Given the description of an element on the screen output the (x, y) to click on. 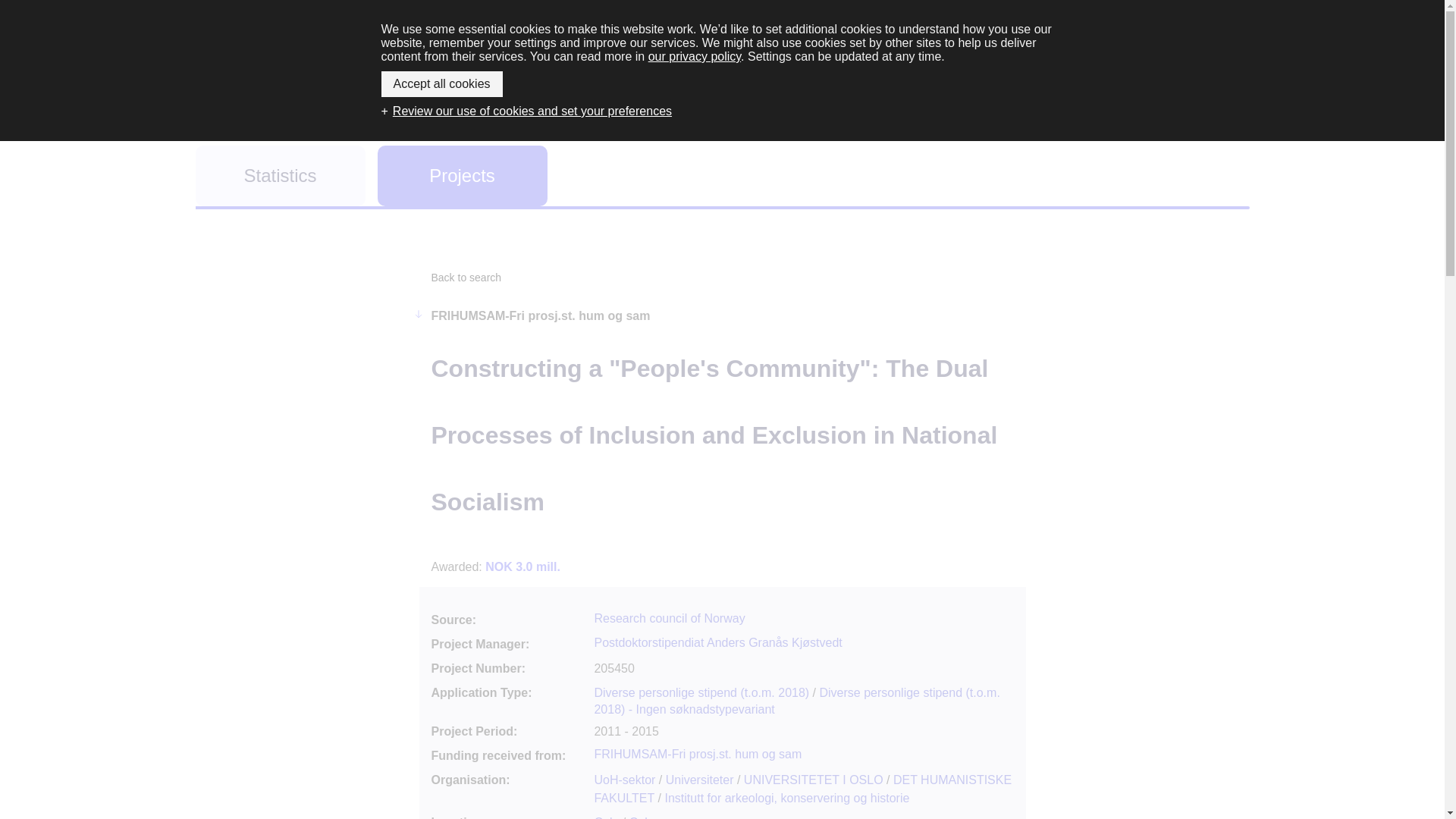
Research council of Norway (669, 617)
Universiteter (699, 779)
UoH-sektor (624, 779)
Back to search (465, 277)
DET HUMANISTISKE FAKULTET (802, 788)
Statistics (280, 175)
UNIVERSITETET I OSLO (813, 779)
FRIHUMSAM-Fri prosj.st. hum og sam (698, 753)
Oslo (640, 817)
MENU (1207, 48)
Institutt for arkeologi, konservering og historie (787, 797)
PROJECT BANK (722, 64)
Projects (462, 175)
Oslo (606, 817)
